Given the description of an element on the screen output the (x, y) to click on. 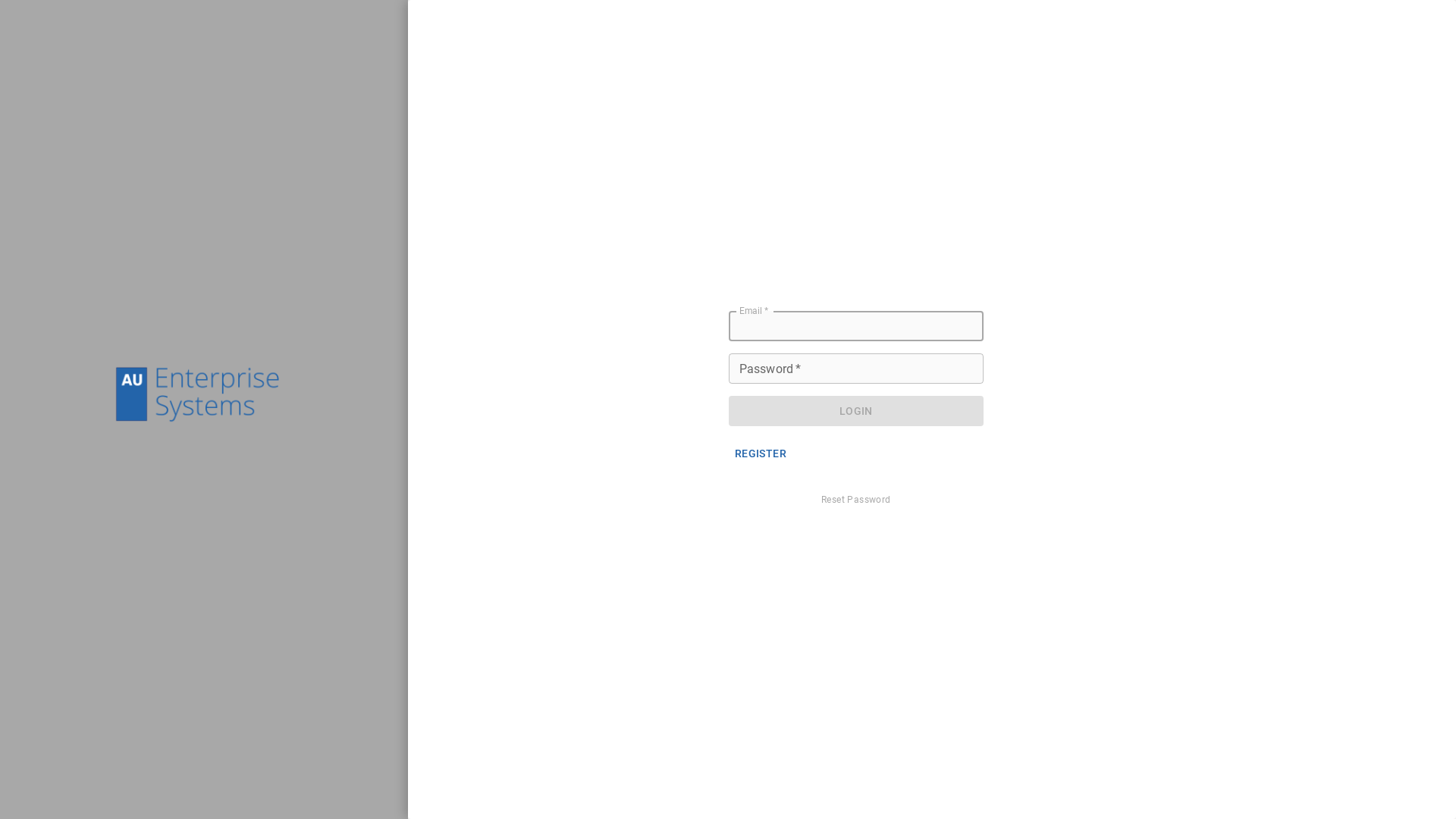
Reset Password Element type: text (855, 500)
LOGIN Element type: text (855, 410)
REGISTER Element type: text (760, 453)
